Given the description of an element on the screen output the (x, y) to click on. 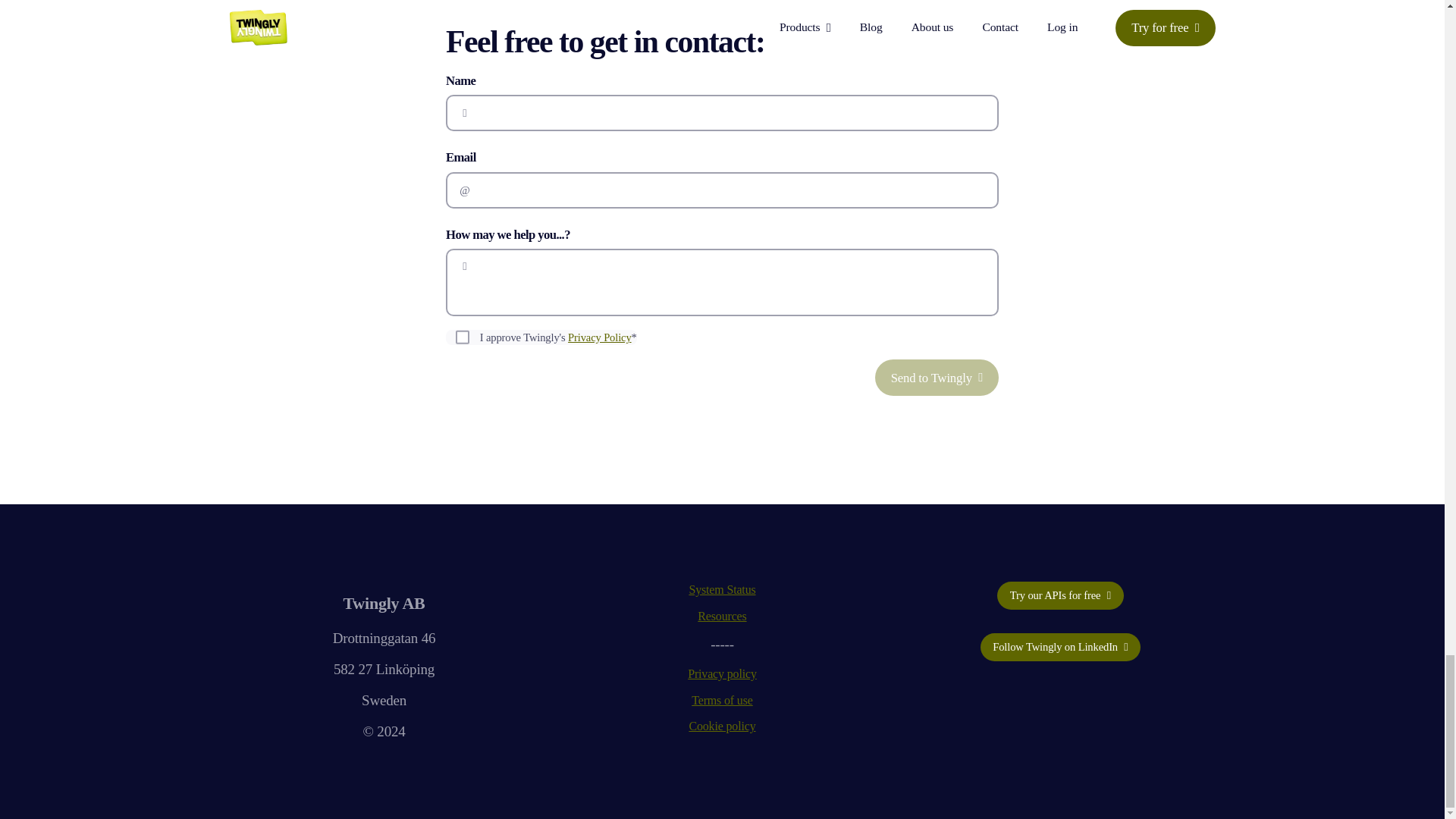
Privacy Policy (598, 337)
